Given the description of an element on the screen output the (x, y) to click on. 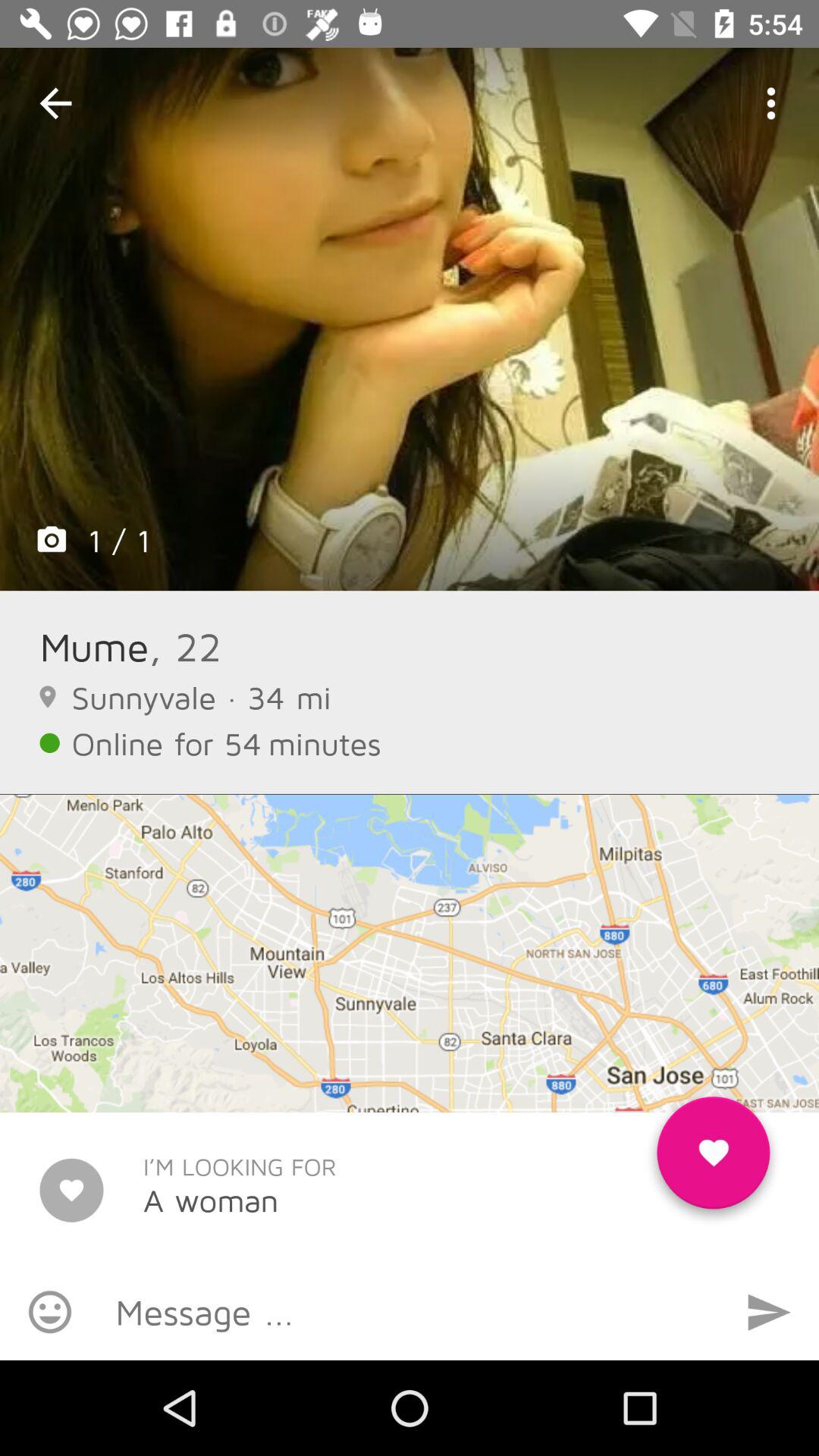
sends the message that was written (769, 1312)
